Given the description of an element on the screen output the (x, y) to click on. 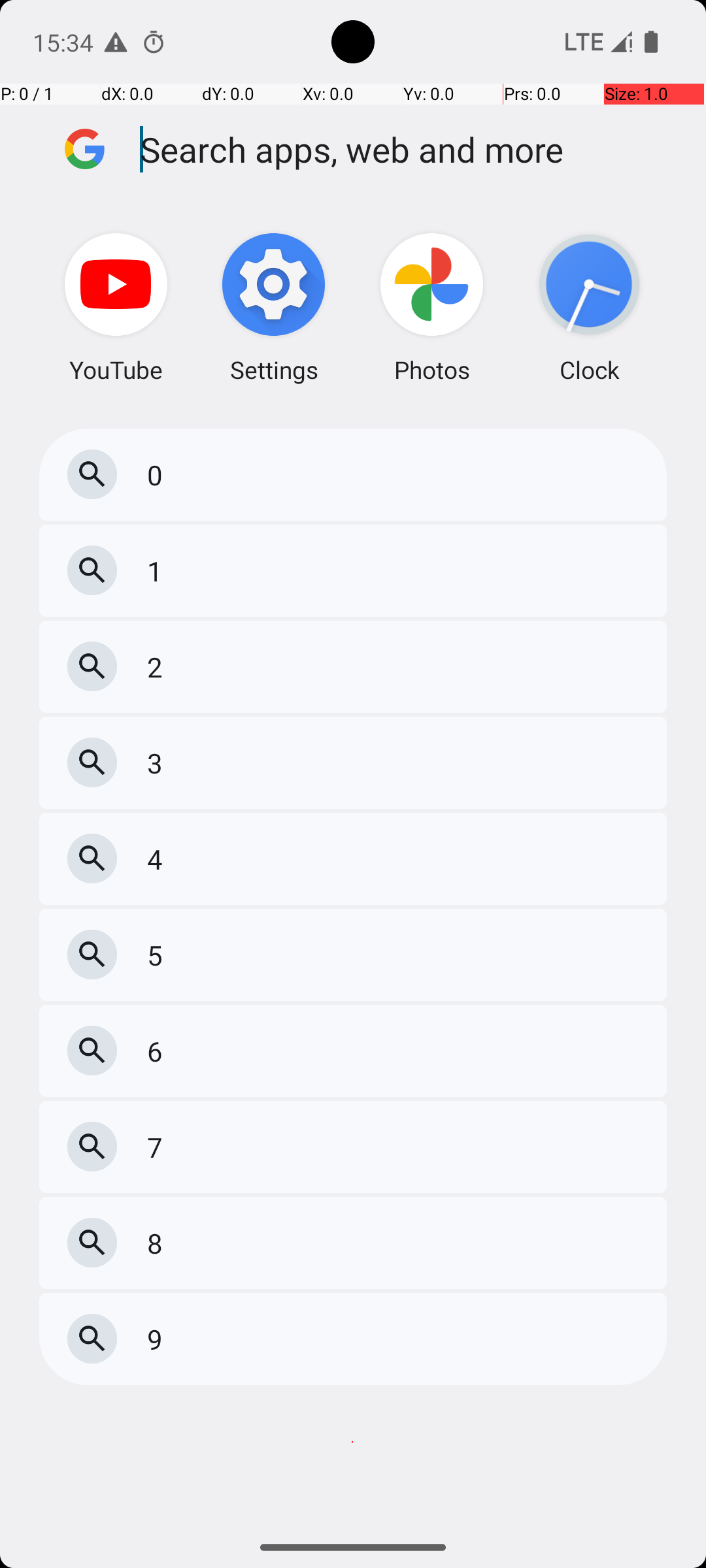
Google app Element type: android.widget.ImageView (84, 148)
Search apps, web and more Element type: android.widget.EditText (403, 148)
YouTube Element type: android.widget.TextView (115, 306)
Settings Element type: android.widget.TextView (273, 306)
Photos Element type: android.widget.TextView (431, 306)
Clock Element type: android.widget.TextView (589, 306)
0 Element type: android.widget.TextView (158, 474)
1 Element type: android.widget.TextView (158, 570)
2 Element type: android.widget.TextView (158, 666)
3 Element type: android.widget.TextView (158, 762)
4 Element type: android.widget.TextView (158, 858)
5 Element type: android.widget.TextView (158, 954)
6 Element type: android.widget.TextView (158, 1050)
7 Element type: android.widget.TextView (158, 1146)
8 Element type: android.widget.TextView (158, 1242)
9 Element type: android.widget.TextView (158, 1338)
